Given the description of an element on the screen output the (x, y) to click on. 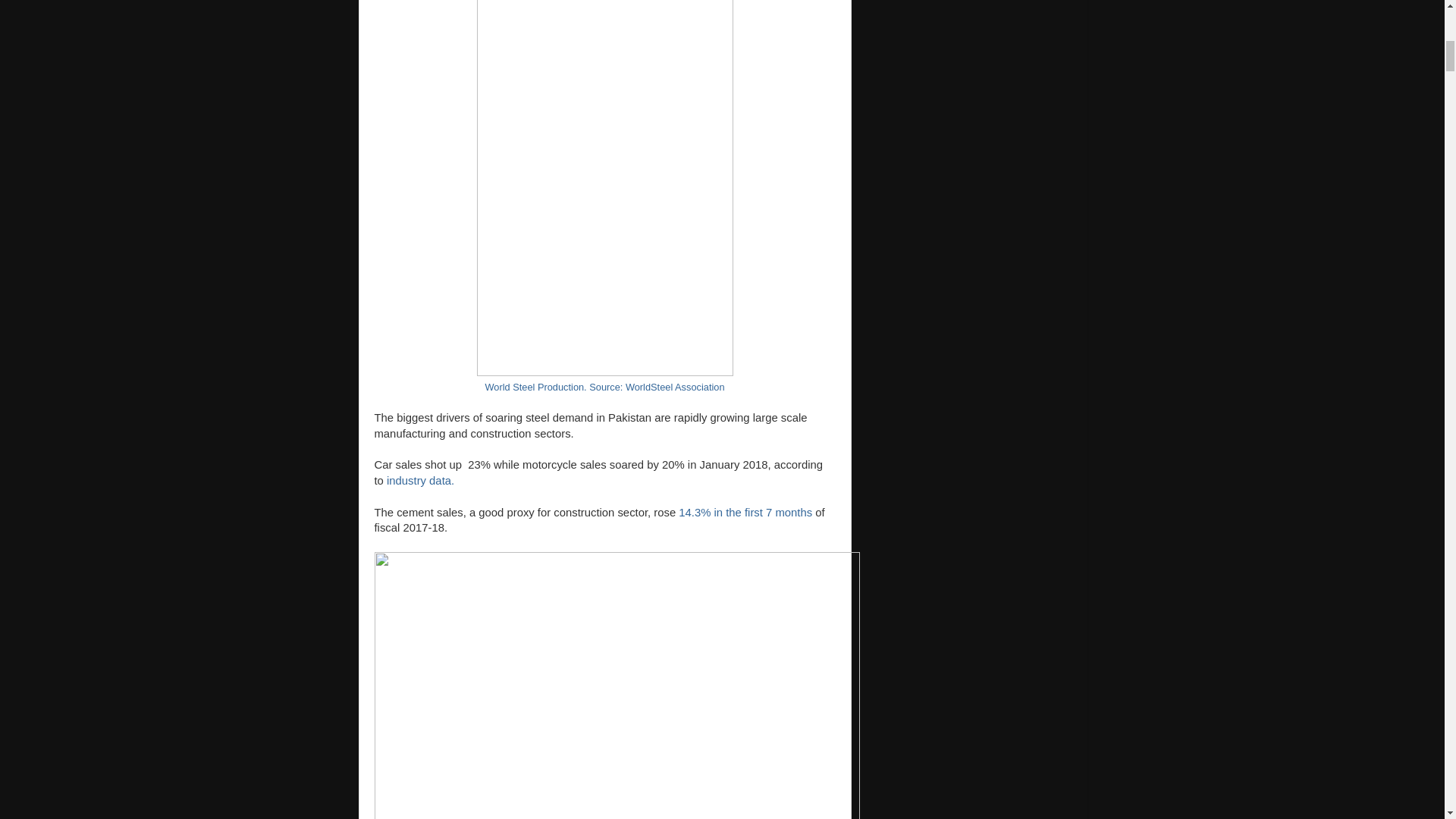
World Steel Production. Source: WorldSteel Association (603, 387)
industry data. (420, 480)
